Given the description of an element on the screen output the (x, y) to click on. 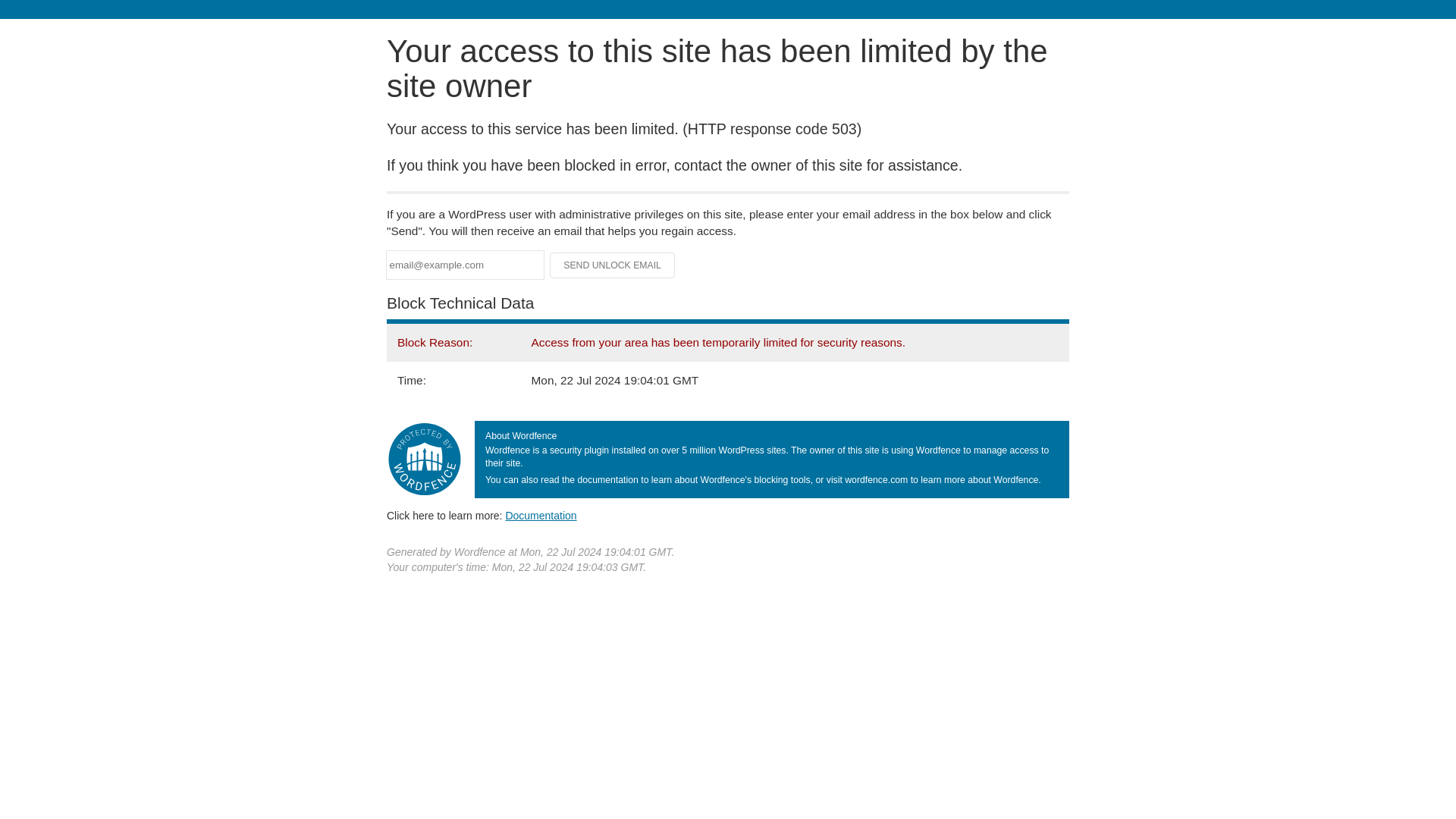
Send Unlock Email (612, 265)
Documentation (540, 515)
Send Unlock Email (612, 265)
